Given the description of an element on the screen output the (x, y) to click on. 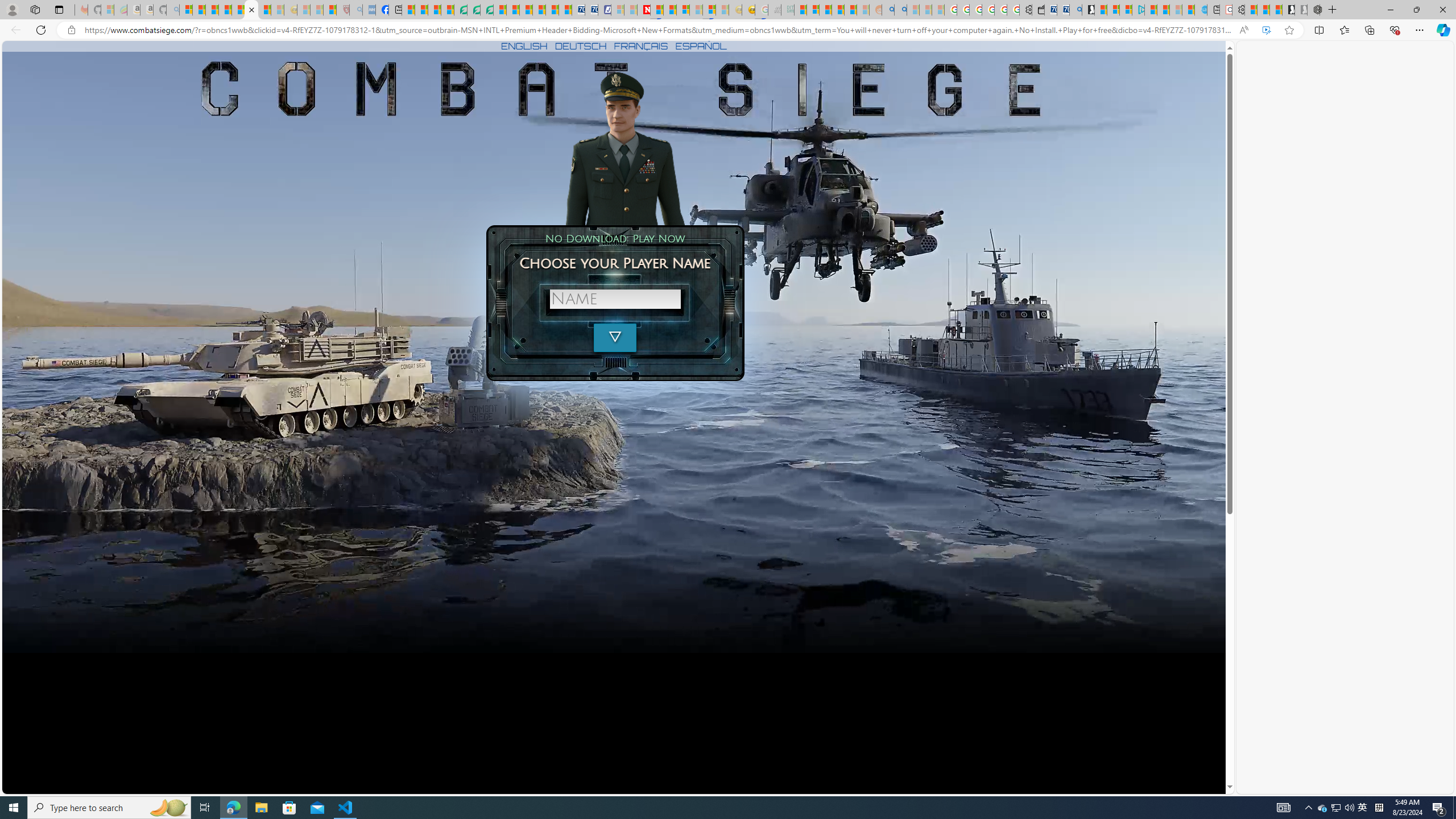
The Weather Channel - MSN (212, 9)
